Given the description of an element on the screen output the (x, y) to click on. 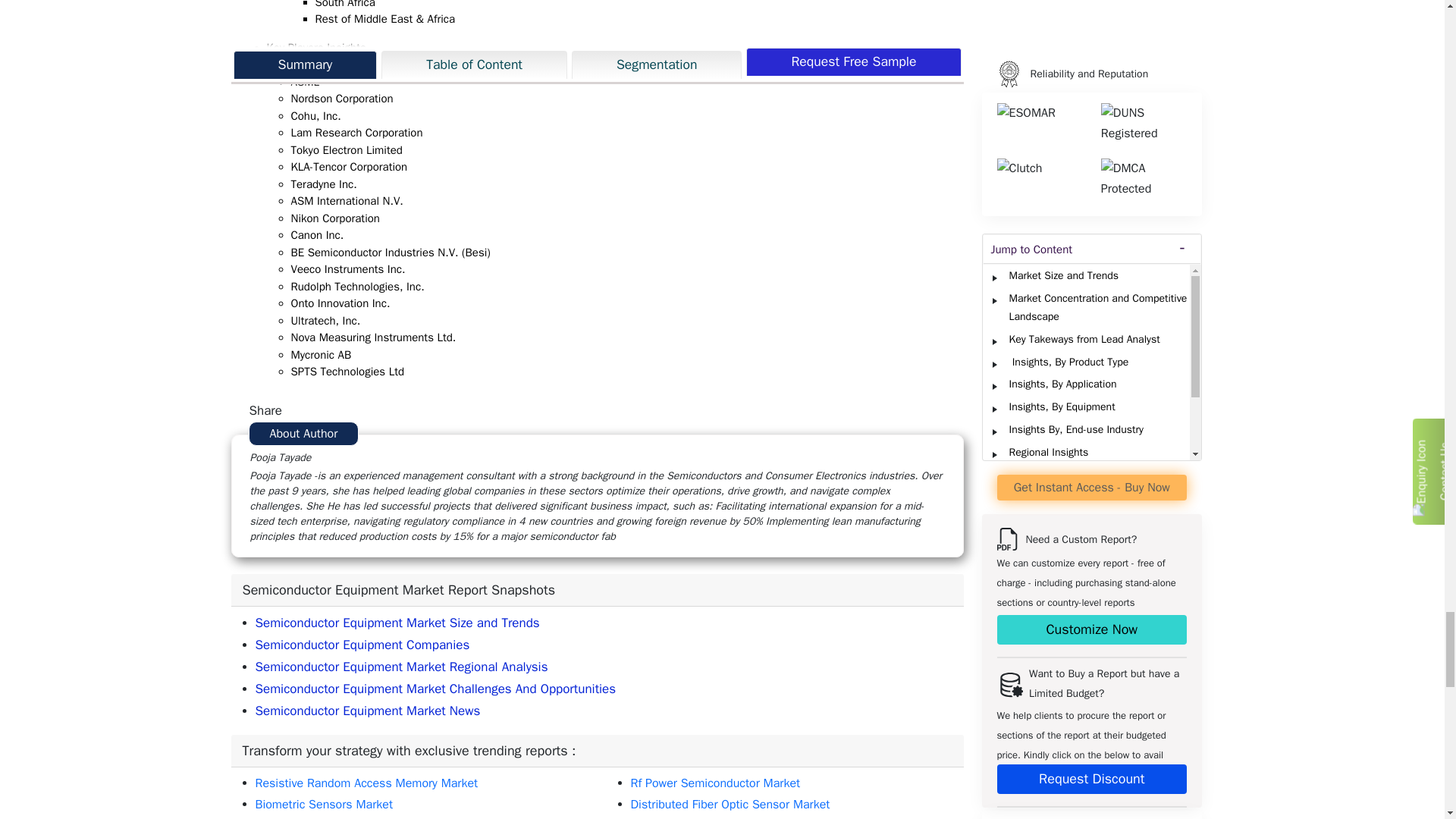
Semiconductor Equipment Market Regional Insights (434, 688)
Semiconductor Equipment Market Size and Trends (396, 622)
Dark Fiber Companies (361, 644)
 Biometric Sensors Market (323, 804)
Semiconductor Equipment Market Regional Insights (400, 666)
 Resistive Random Access Memory Market (365, 783)
Semiconductor Equipment Market Regional Insights (367, 710)
 Lead Acid Battery Market (320, 818)
